Given the description of an element on the screen output the (x, y) to click on. 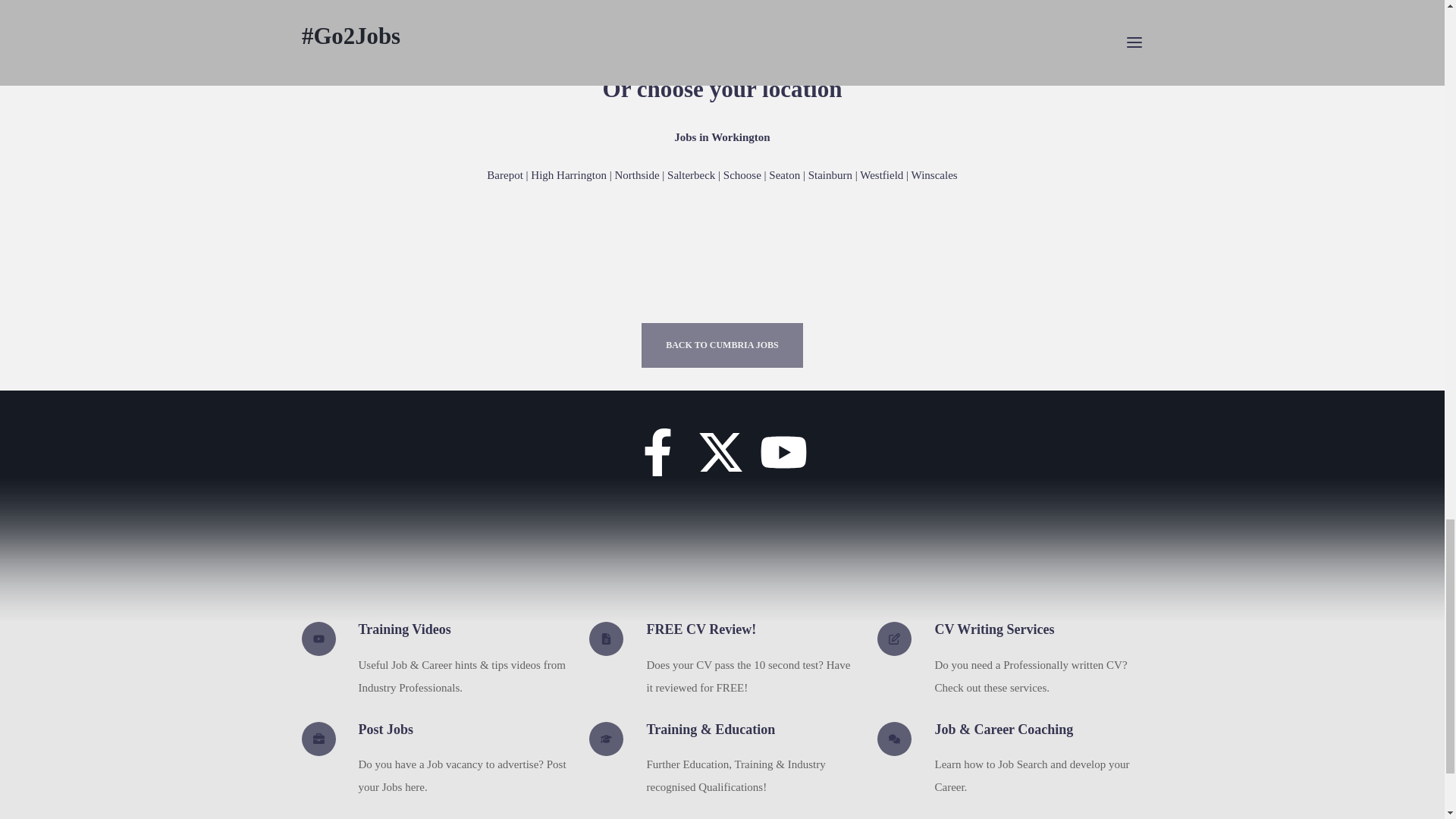
Jobs in Workington (721, 174)
Job Search (860, 5)
Workington Jobs on Facebook (657, 460)
Job Search (800, 5)
Back to Cumbria Jobs UK (722, 344)
Jobs in Workington (722, 137)
